Given the description of an element on the screen output the (x, y) to click on. 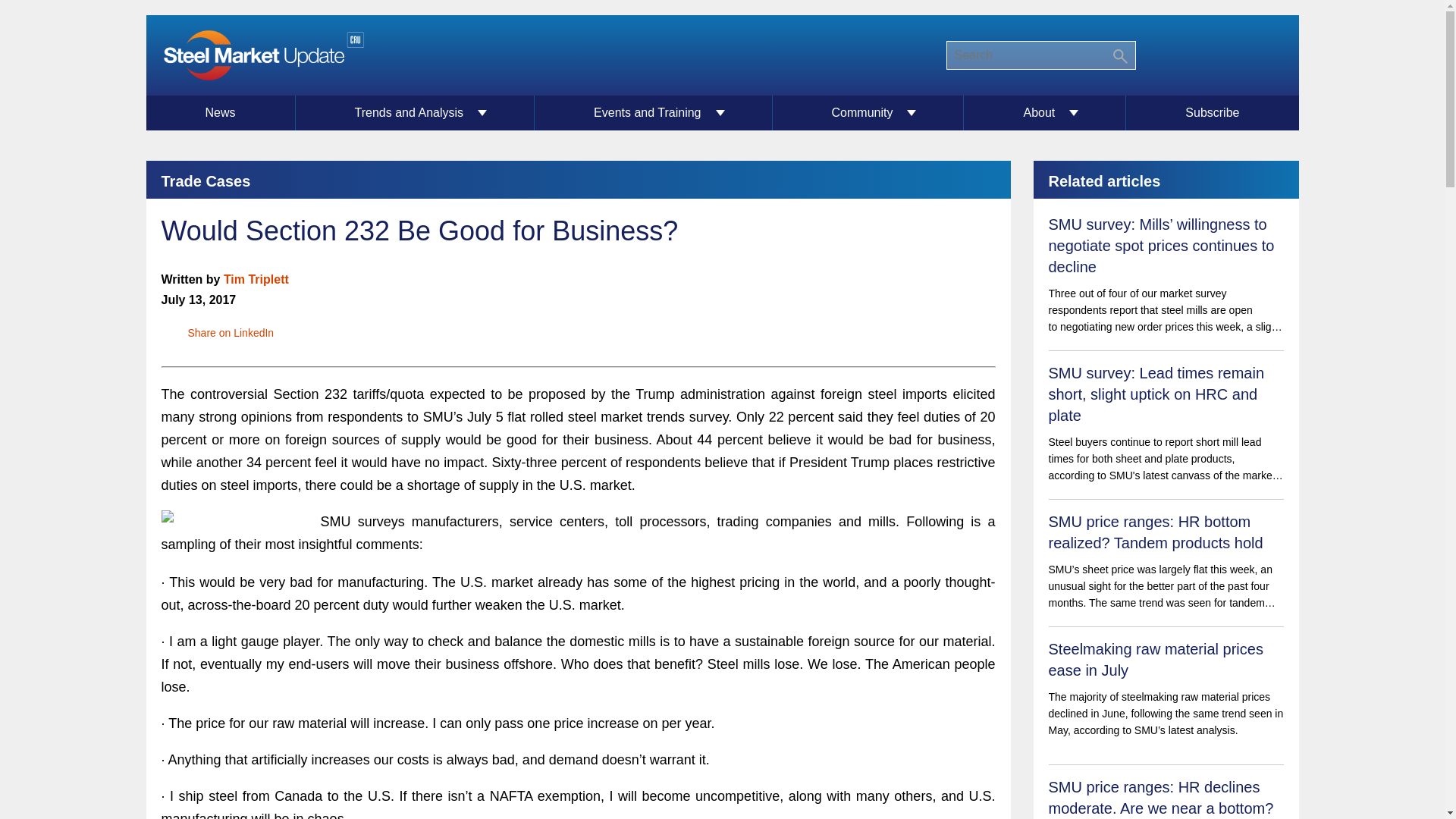
News (220, 112)
Home (262, 55)
Trends and Analysis (415, 112)
